Given the description of an element on the screen output the (x, y) to click on. 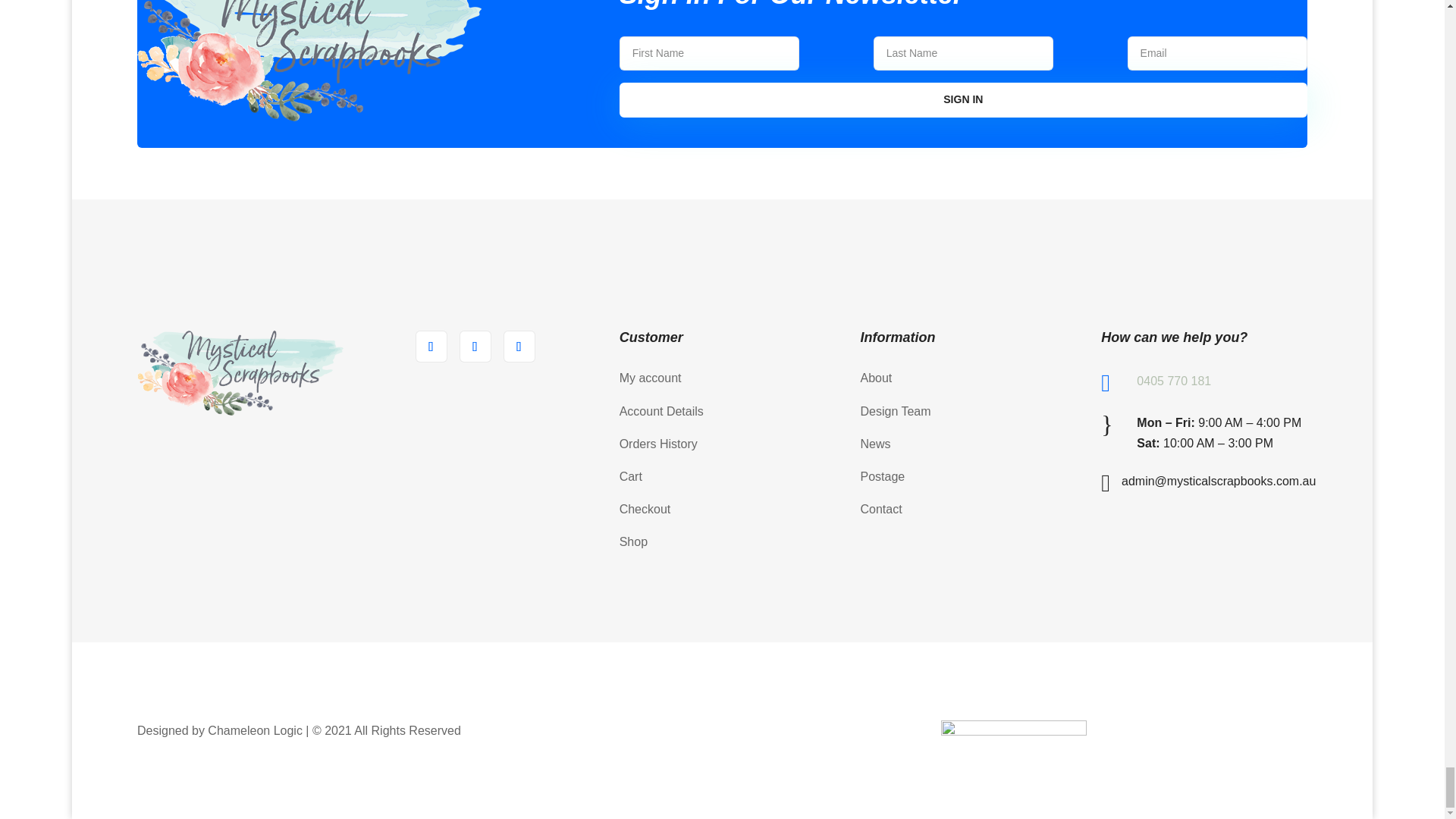
Follow on Facebook (430, 346)
Follow on Instagram (519, 346)
shape-payment (1013, 728)
Follow on Pinterest (476, 346)
